Given the description of an element on the screen output the (x, y) to click on. 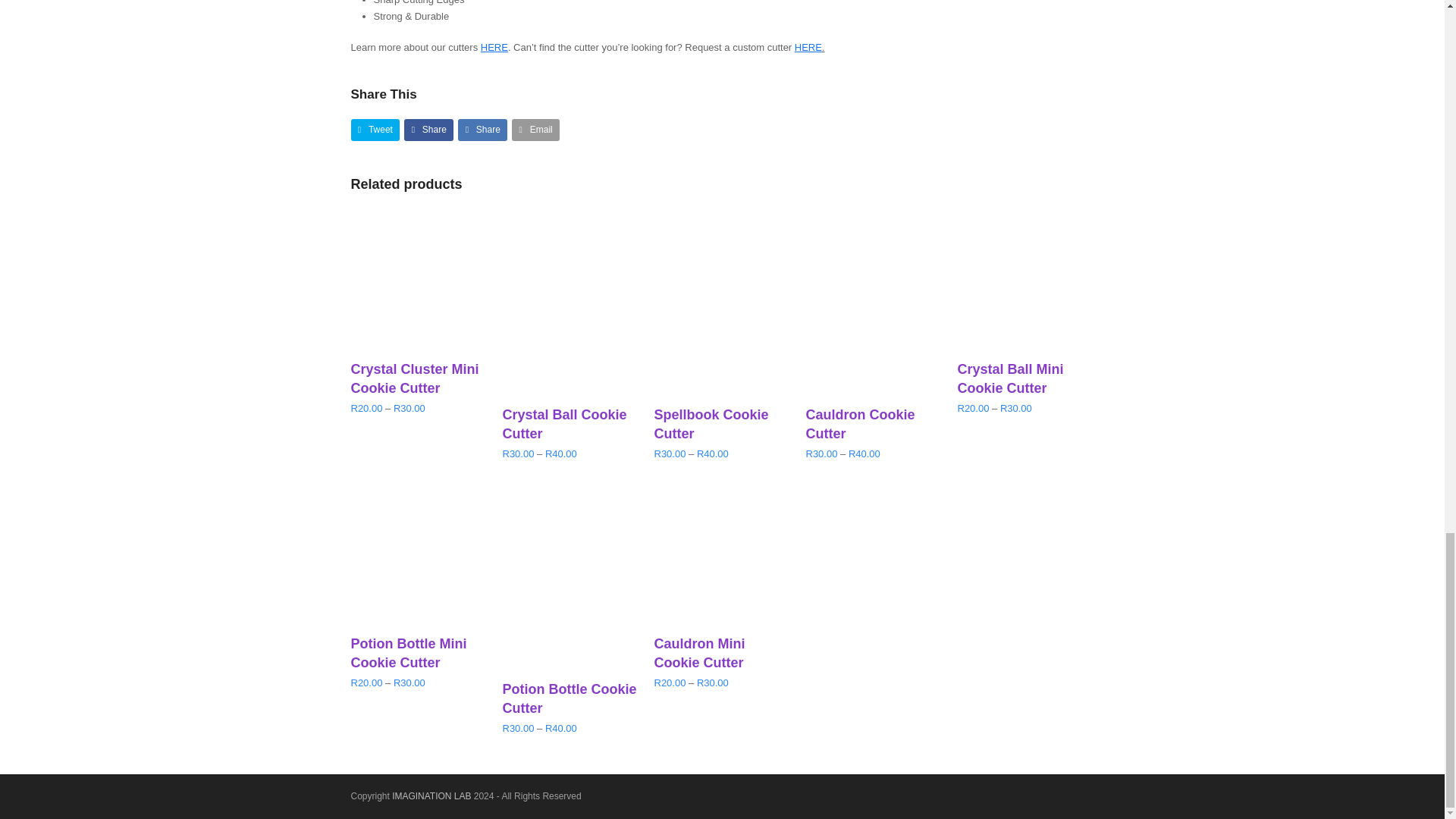
HERE (494, 47)
Share (428, 129)
Tweet (374, 129)
HERE (808, 47)
Share (482, 129)
